Given the description of an element on the screen output the (x, y) to click on. 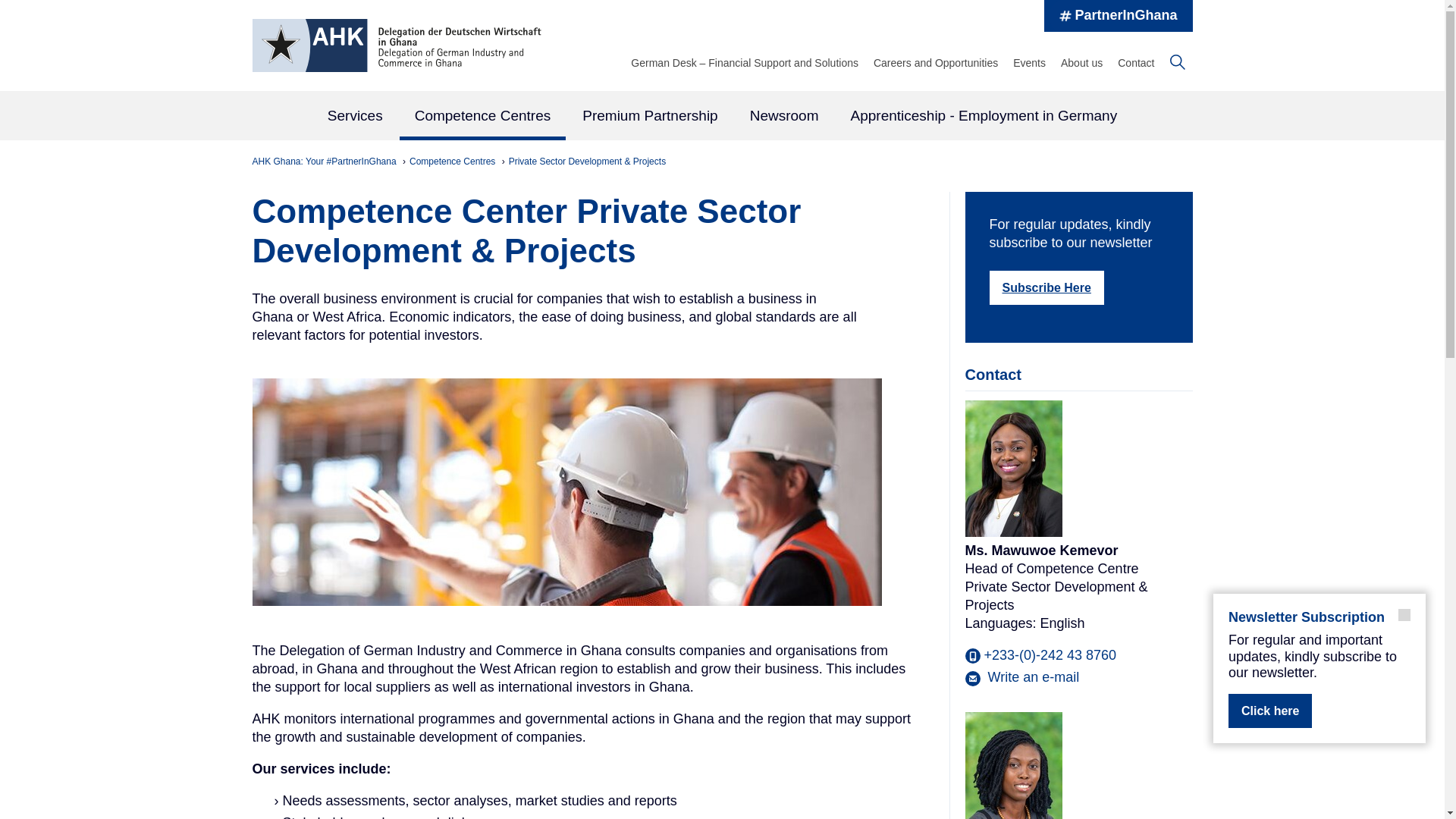
Main (721, 117)
PartnerInGhana (1117, 15)
Competence Centres (453, 161)
Ms.  Mawuwoe Kemevor (1020, 677)
Ms. Mawuwoe Kemevor (1012, 468)
Ms. Maame Efua Bordoh-Dadzie (1012, 765)
